Given the description of an element on the screen output the (x, y) to click on. 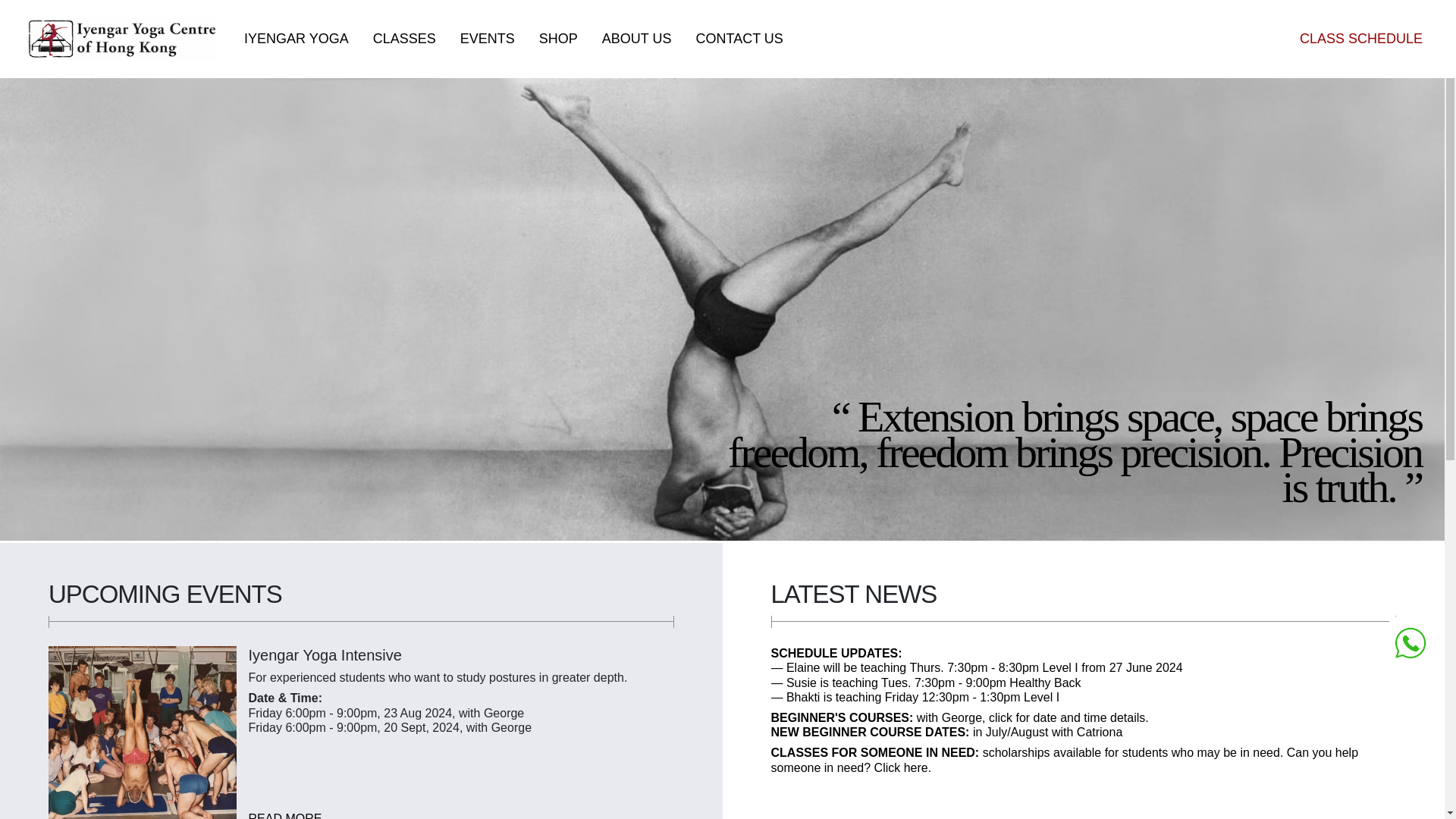
EVENTS (487, 38)
SHOP (558, 38)
CLASSES (404, 38)
click to chat on WhatsApp (1410, 642)
ABOUT US (636, 38)
IYENGAR YOGA (296, 38)
